Given the description of an element on the screen output the (x, y) to click on. 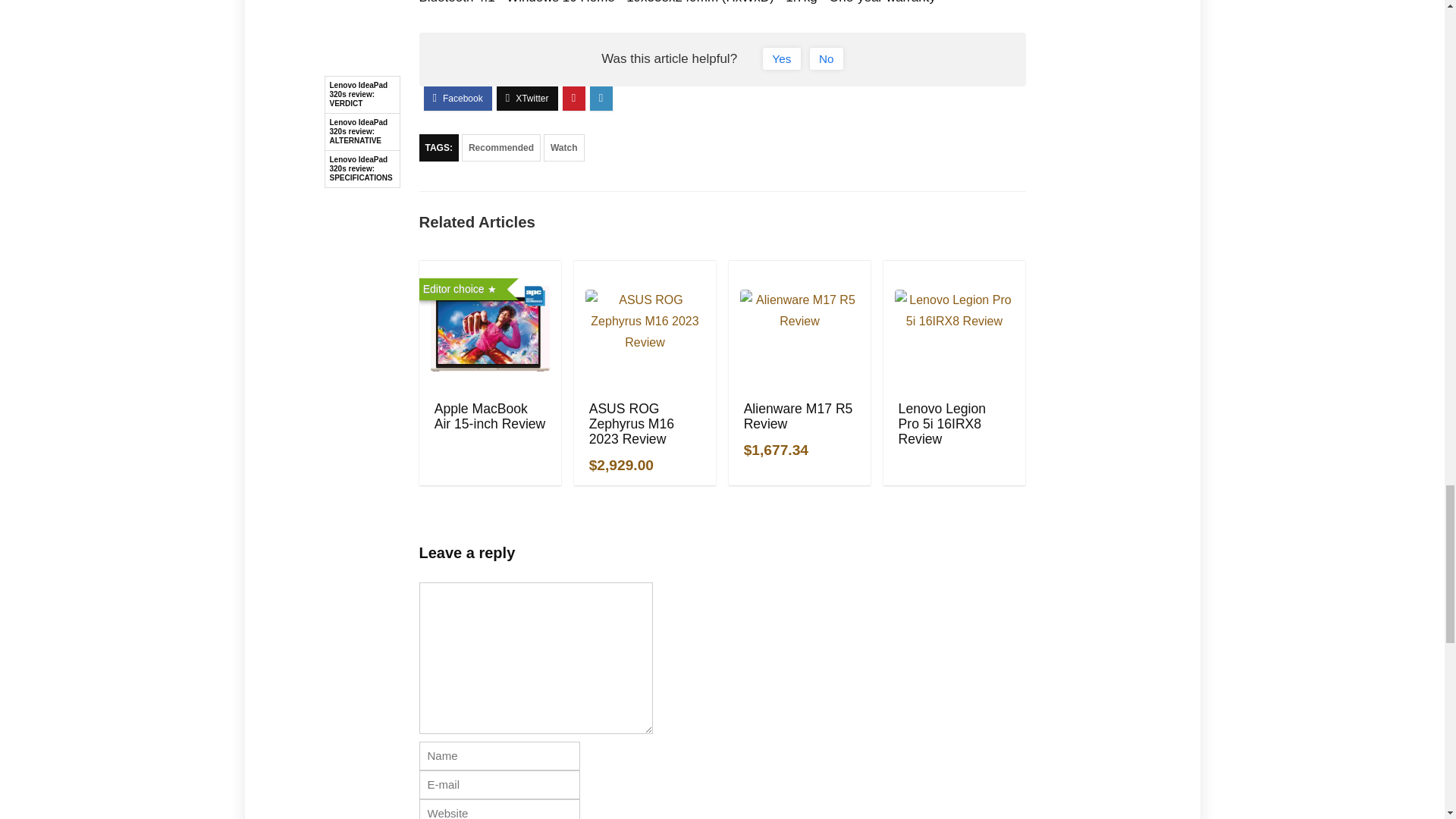
Recommended (500, 147)
Alienware M17 R5 Review (798, 416)
ASUS ROG Zephyrus M16 2023 Review (631, 423)
Lenovo Legion Pro 5i 16IRX8 Review (941, 423)
Apple MacBook Air 15-inch Review (489, 416)
Watch (564, 147)
